Given the description of an element on the screen output the (x, y) to click on. 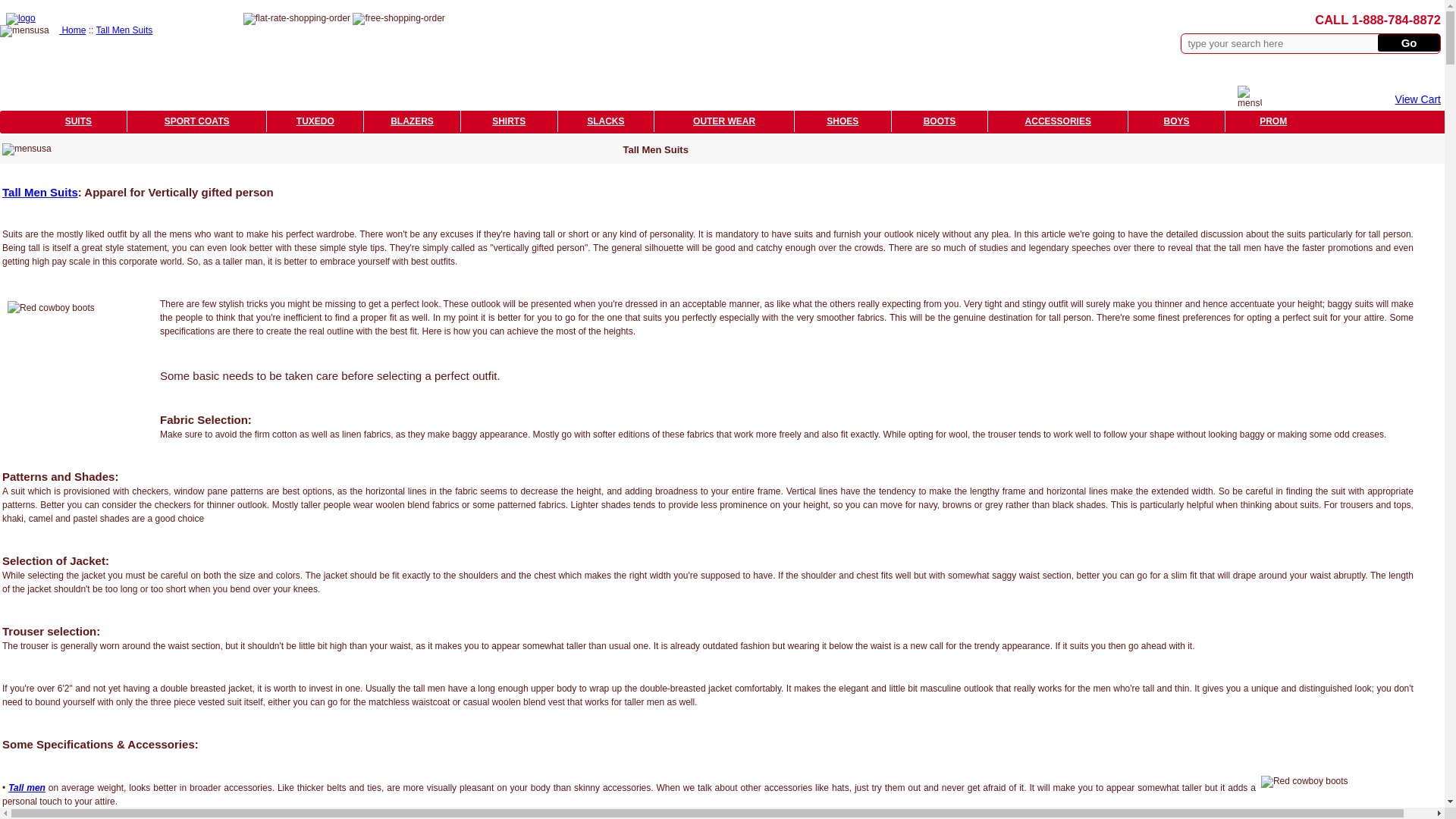
View Cart (1417, 99)
Go (1408, 42)
type your search here (1280, 43)
mensUSA cart icon (1249, 93)
Go (1408, 42)
View cart (1417, 99)
Go (1408, 42)
type your search here (1280, 43)
